Given the description of an element on the screen output the (x, y) to click on. 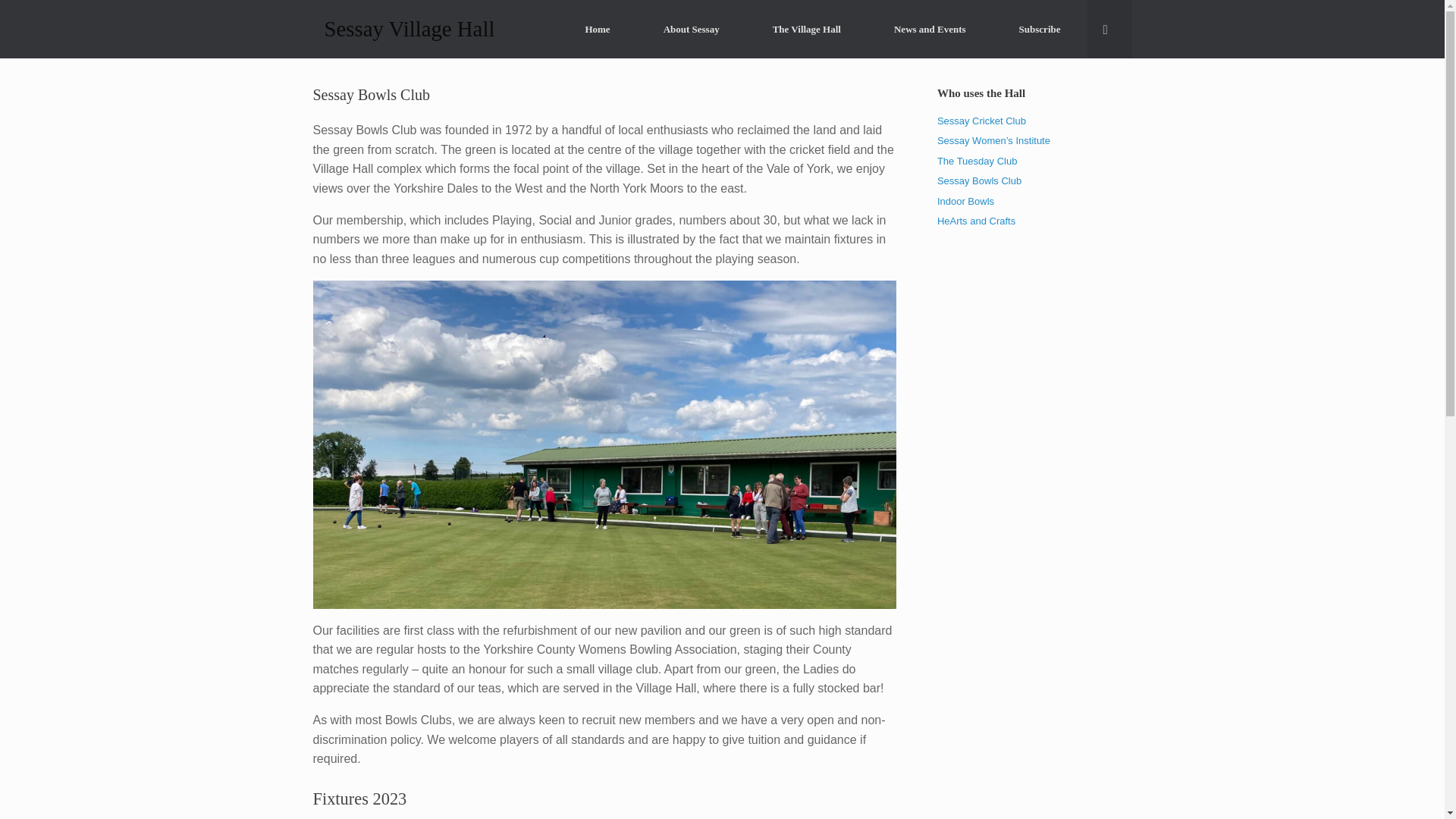
Indoor Bowls (965, 201)
News and Events (929, 29)
Home (596, 29)
Sessay Bowls Club (979, 180)
Sessay Village Hall (409, 29)
The Tuesday Club (977, 161)
HeArts and Crafts (975, 220)
Sessay Village Hall (409, 29)
Subscribe (1039, 29)
About Sessay (691, 29)
The Village Hall (806, 29)
Sessay Cricket Club (981, 120)
